Given the description of an element on the screen output the (x, y) to click on. 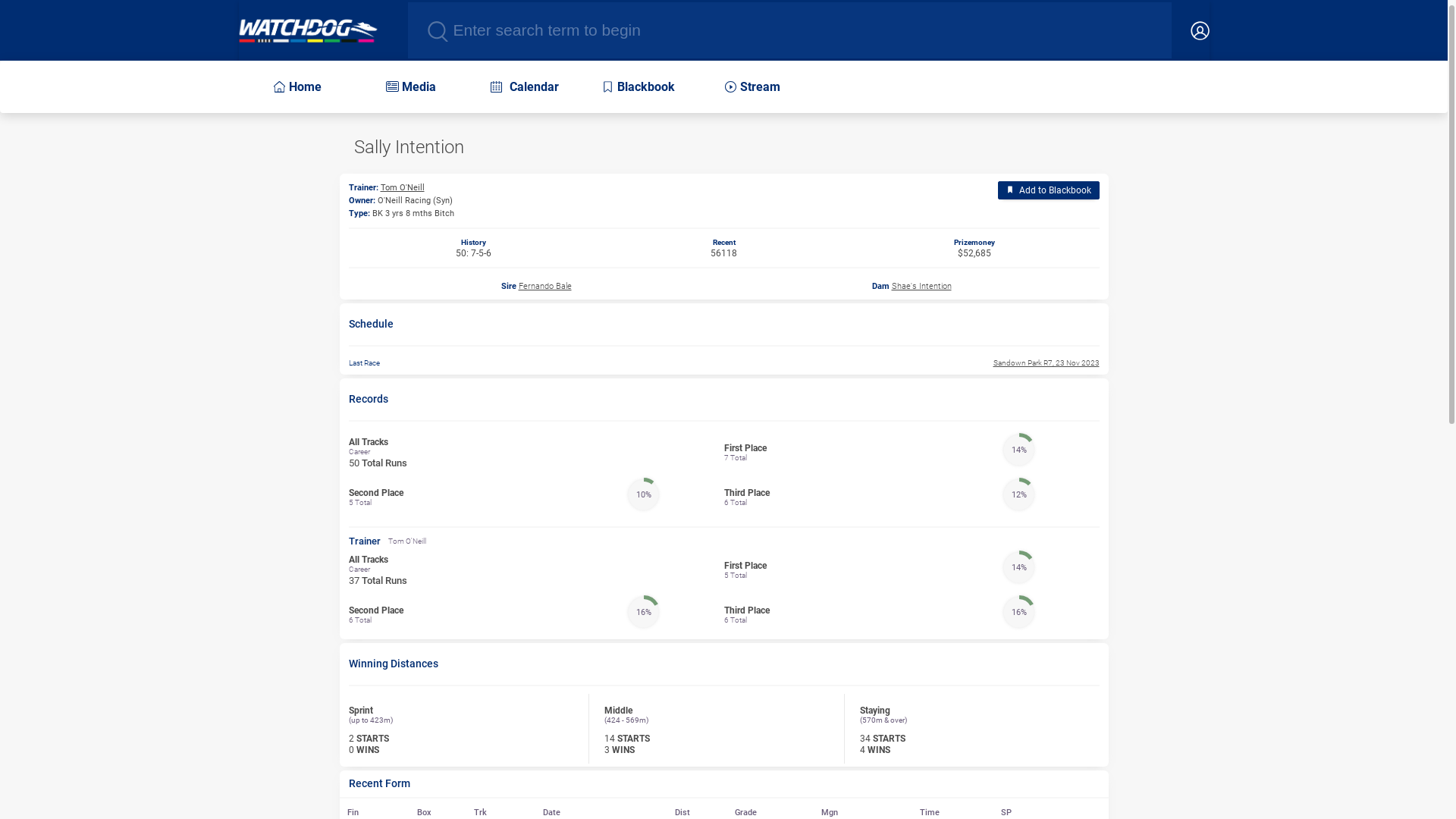
Blackbook Element type: text (636, 86)
Stream Element type: text (749, 86)
Home Element type: hover (307, 29)
Calendar Element type: text (522, 86)
Media Element type: text (408, 86)
Home Element type: text (294, 86)
